Given the description of an element on the screen output the (x, y) to click on. 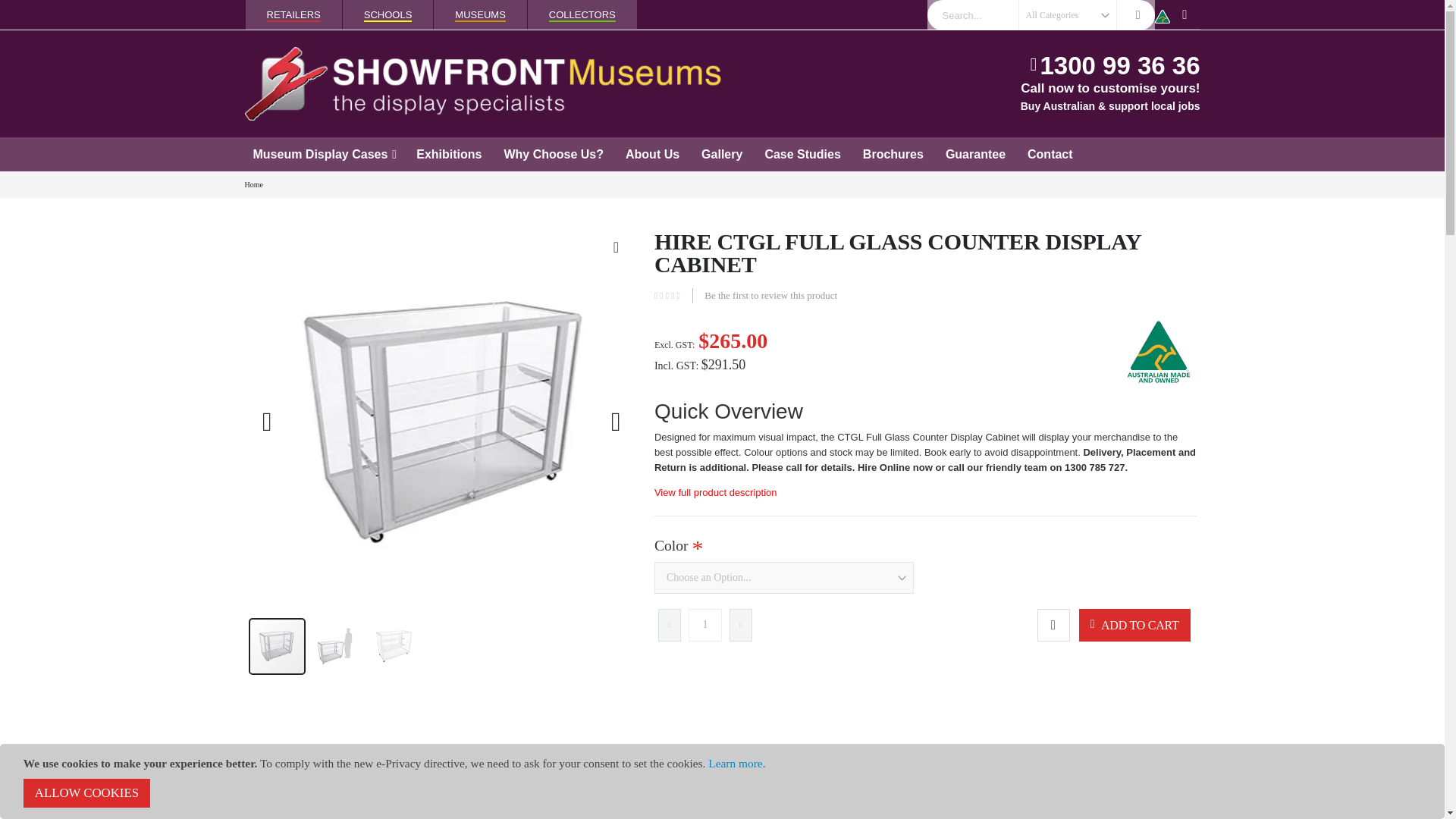
Showfront (483, 83)
MUSEUMS (479, 15)
Museum Display Cases (324, 154)
1 (705, 625)
Museum Display Cases (324, 154)
Search (1137, 15)
SIGN IN (1184, 14)
RETAILERS (293, 15)
ALLOW COOKIES (86, 792)
Learn more (734, 762)
1300 99 36 36 (1119, 65)
Search (1137, 15)
SCHOOLS (388, 15)
COLLECTORS (581, 15)
